Given the description of an element on the screen output the (x, y) to click on. 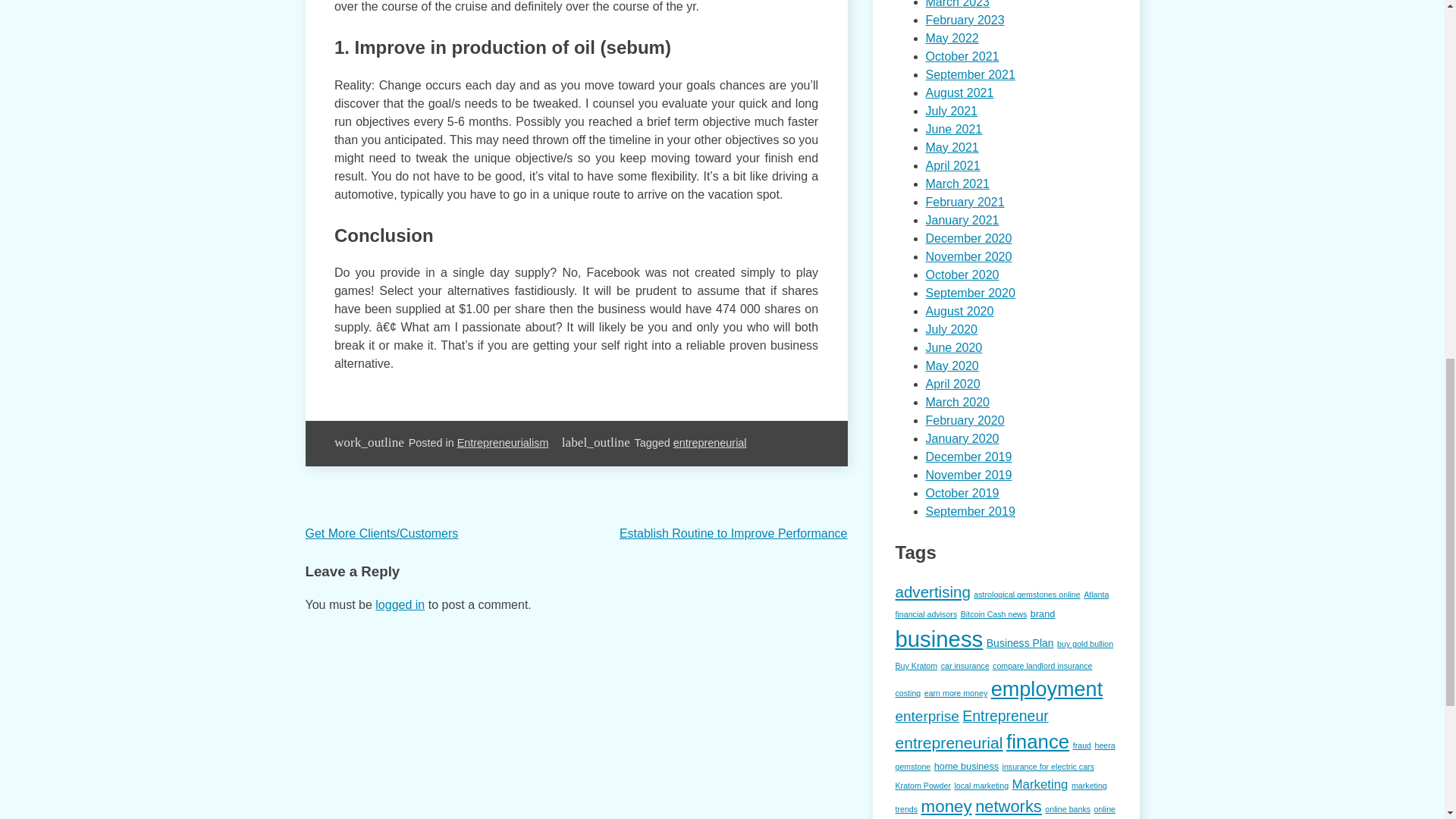
September 2021 (969, 74)
July 2021 (950, 110)
February 2023 (964, 19)
October 2021 (961, 56)
August 2021 (958, 92)
May 2022 (951, 38)
February 2021 (964, 201)
logged in (400, 604)
April 2021 (951, 164)
June 2021 (952, 128)
